Given the description of an element on the screen output the (x, y) to click on. 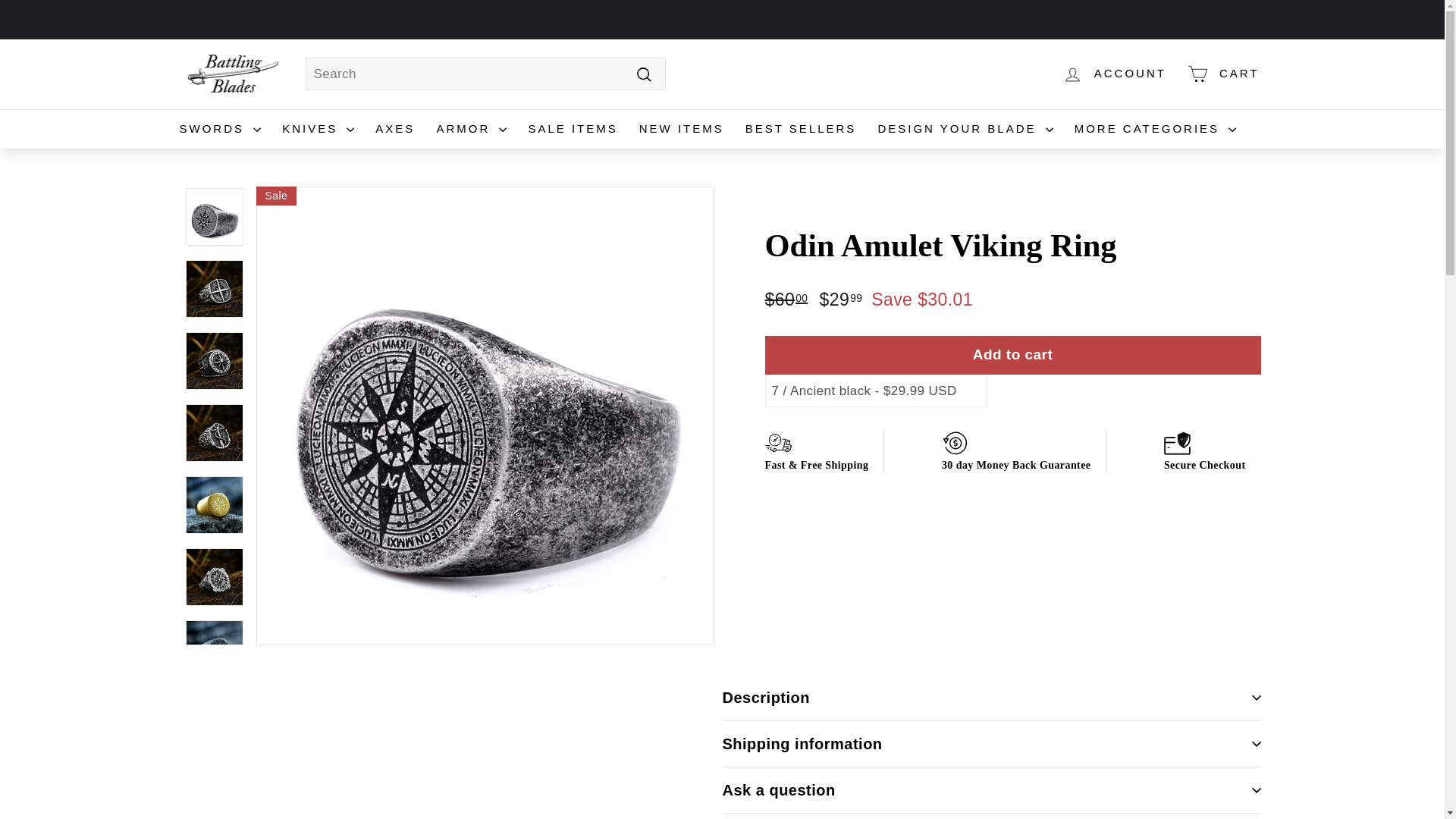
CART (1222, 73)
AXES (395, 128)
ACCOUNT (1113, 73)
